Given the description of an element on the screen output the (x, y) to click on. 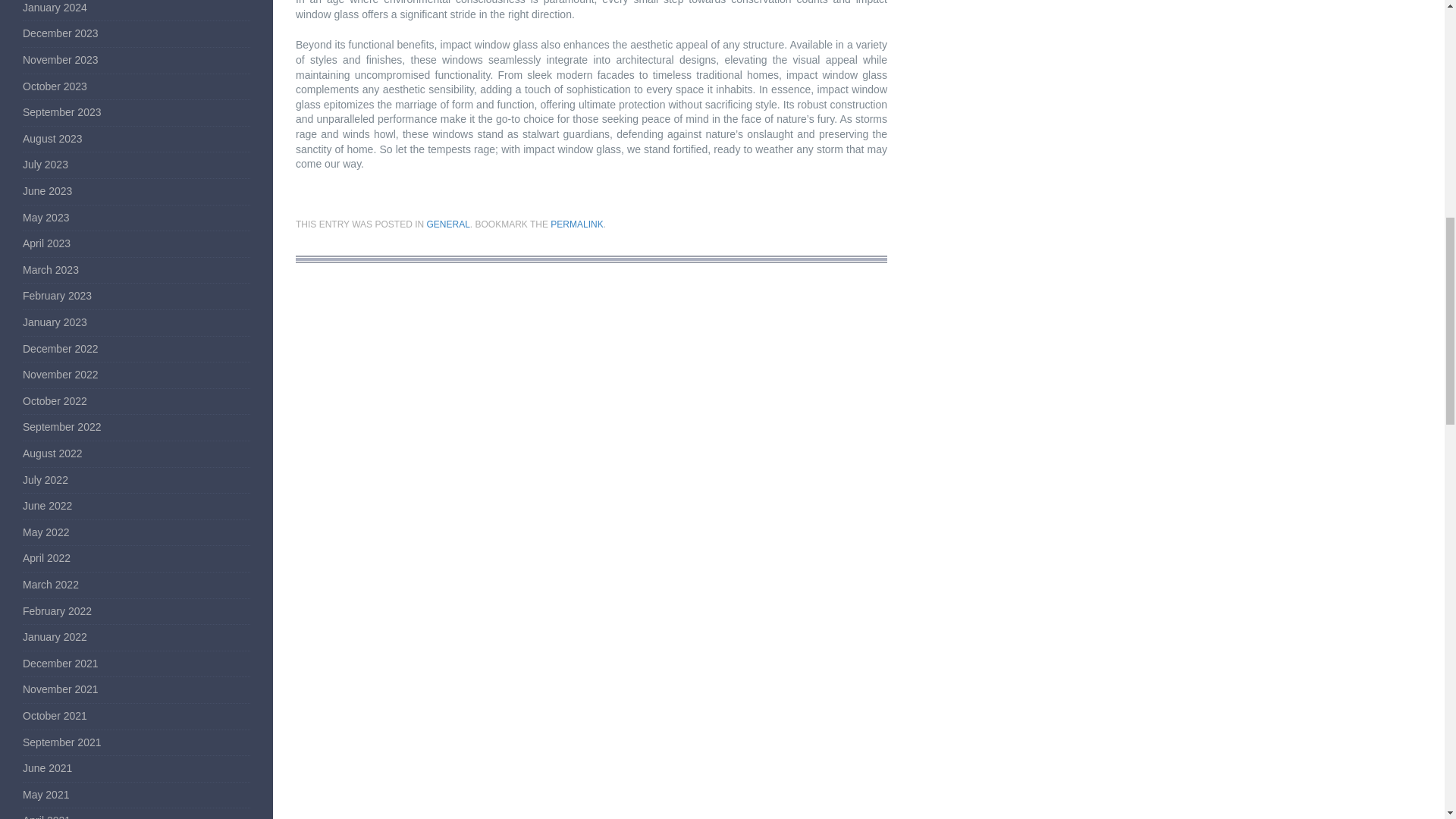
May 2023 (45, 217)
December 2023 (61, 33)
May 2022 (45, 532)
March 2023 (50, 269)
November 2023 (61, 60)
July 2022 (45, 480)
March 2022 (50, 584)
November 2022 (61, 374)
April 2022 (46, 558)
October 2023 (55, 86)
February 2022 (57, 611)
January 2023 (55, 322)
August 2023 (52, 138)
April 2023 (46, 243)
February 2023 (57, 295)
